Given the description of an element on the screen output the (x, y) to click on. 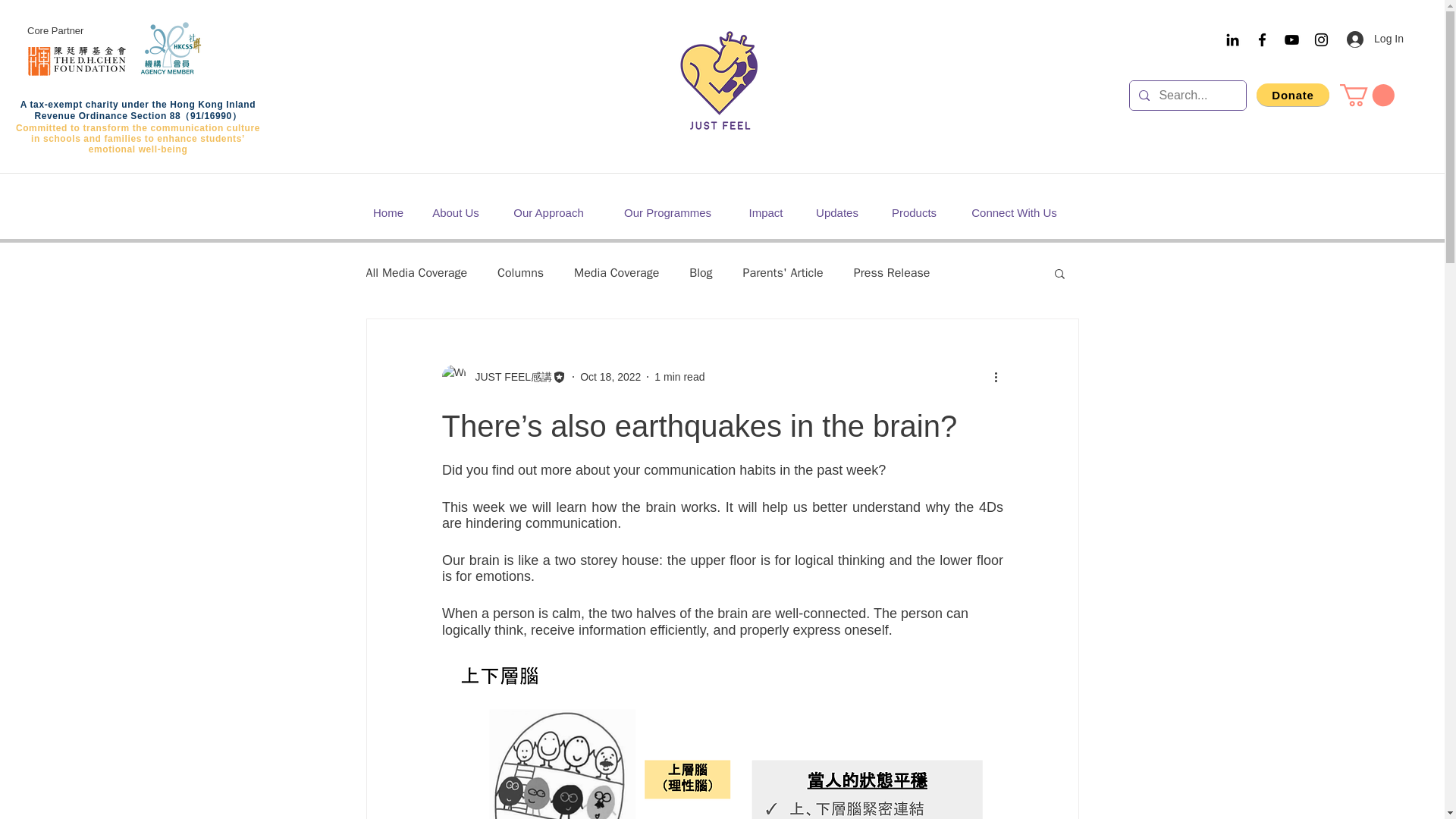
1 min read (678, 376)
Impact (765, 212)
Blog (699, 273)
Media Coverage (616, 273)
Columns (520, 273)
Oct 18, 2022 (609, 376)
Products (914, 212)
Press Release (891, 273)
Our Approach (549, 212)
Parents' Article (783, 273)
